Given the description of an element on the screen output the (x, y) to click on. 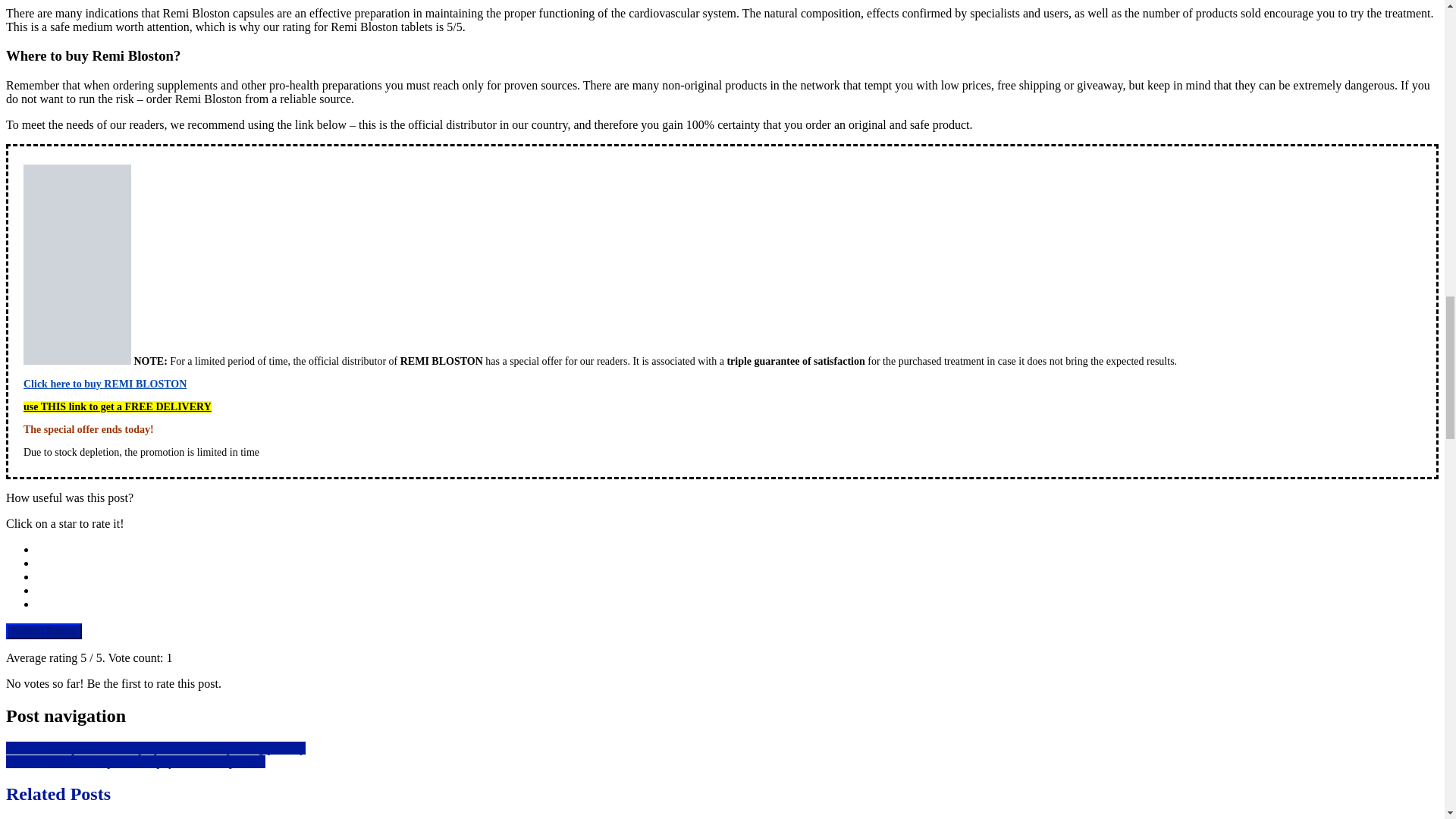
Submit Rating (43, 631)
Click here to buy REMI BLOSTON (104, 383)
use THIS link to get a FREE DELIVERY (117, 406)
